Given the description of an element on the screen output the (x, y) to click on. 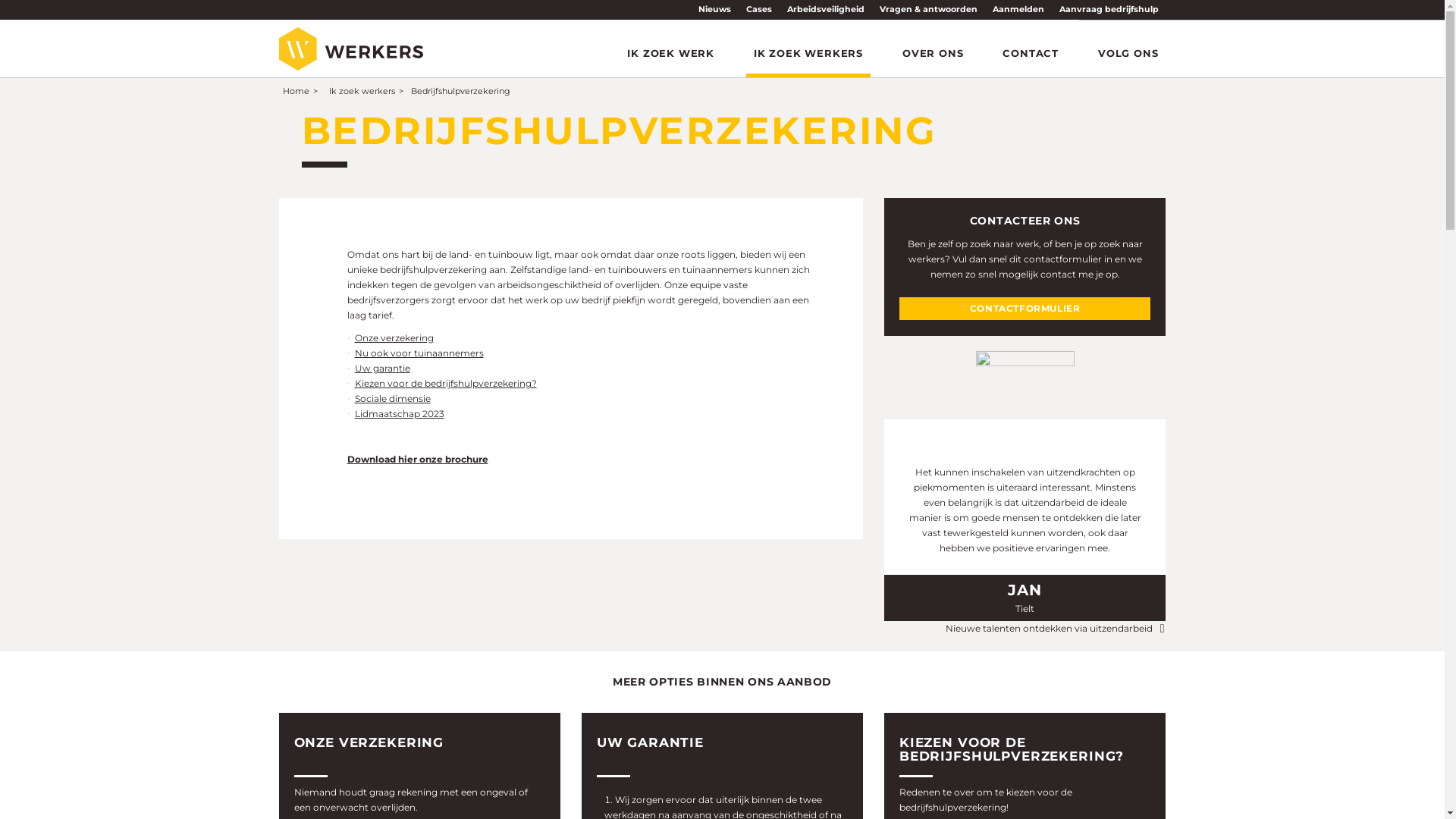
Nu ook voor tuinaannemers Element type: text (418, 352)
Ik zoek werkers Element type: text (361, 91)
IK ZOEK WERKERS Element type: text (807, 52)
Arbeidsveiligheid Element type: text (825, 9)
IK ZOEK WERK Element type: text (670, 52)
Cases Element type: text (758, 9)
Vragen & antwoorden Element type: text (928, 9)
Nieuws Element type: text (713, 9)
Uw garantie Element type: text (382, 367)
Home Element type: hover (351, 48)
OVER ONS Element type: text (932, 52)
CONTACT Element type: text (1030, 52)
Kiezen voor de bedrijfshulpverzekering? Element type: text (445, 383)
Sociale dimensie Element type: text (392, 398)
Download hier onze brochure Element type: text (417, 458)
VOLG ONS Element type: text (1127, 52)
Home Element type: text (296, 91)
Aanmelden Element type: text (1017, 9)
CONTACTFORMULIER Element type: text (1025, 308)
Onze verzekering Element type: text (393, 337)
Nieuwe talenten ontdekken via uitzendarbeid Element type: text (1054, 629)
Lidmaatschap 2023 Element type: text (399, 413)
Aanvraag bedrijfshulp Element type: text (1108, 9)
